Given the description of an element on the screen output the (x, y) to click on. 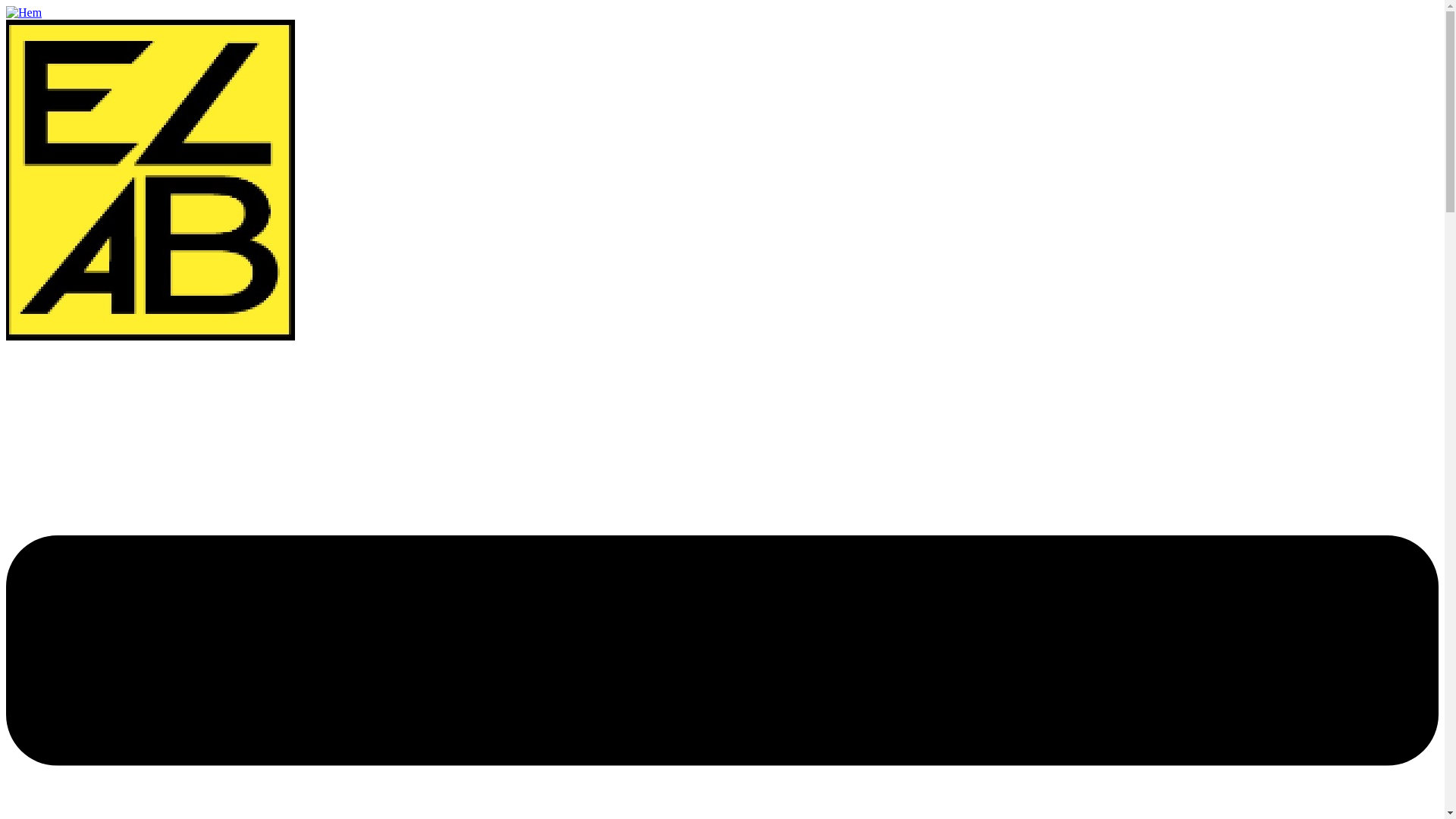
Hem Element type: hover (23, 12)
